Given the description of an element on the screen output the (x, y) to click on. 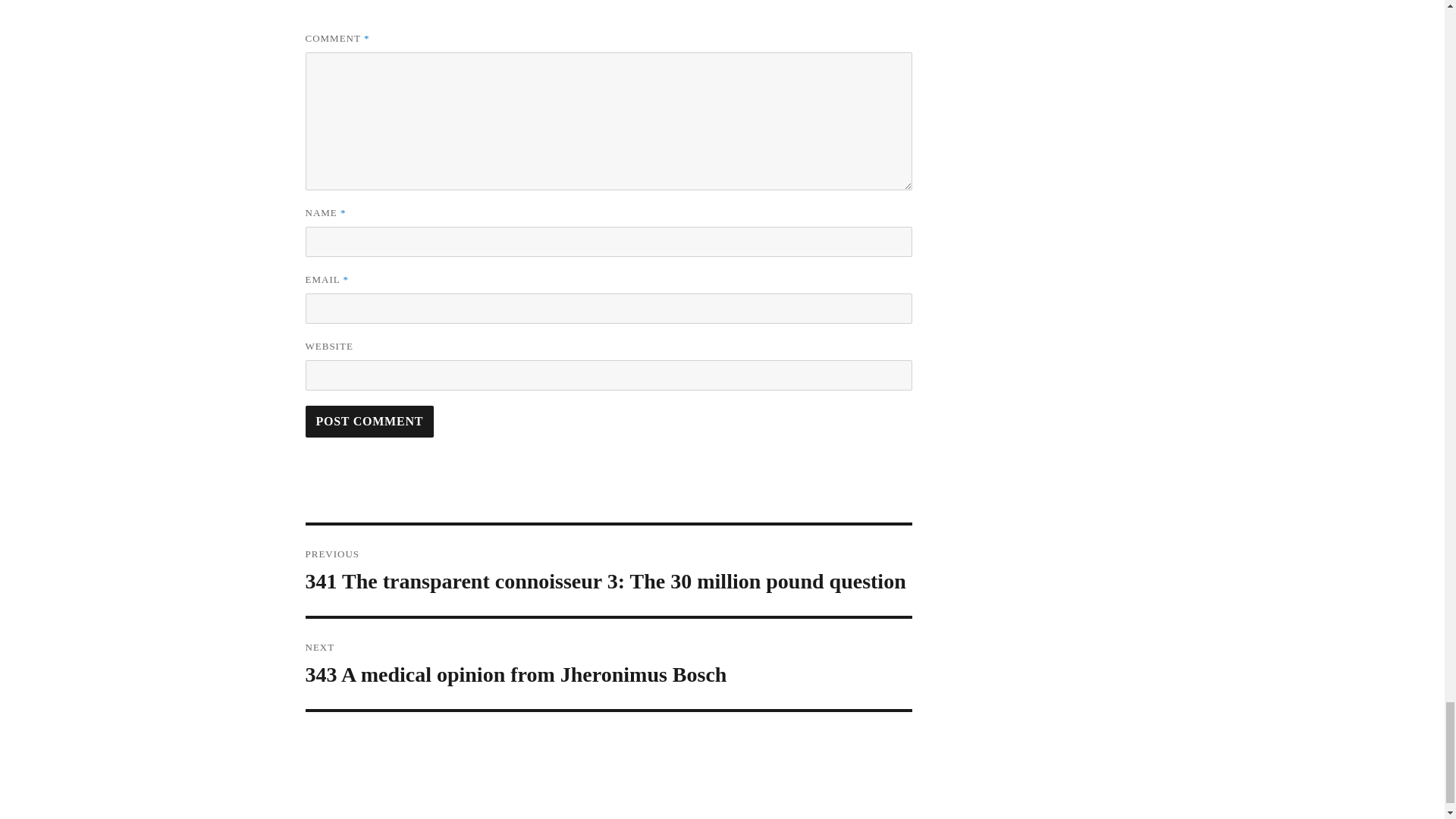
Post Comment (368, 421)
